Given the description of an element on the screen output the (x, y) to click on. 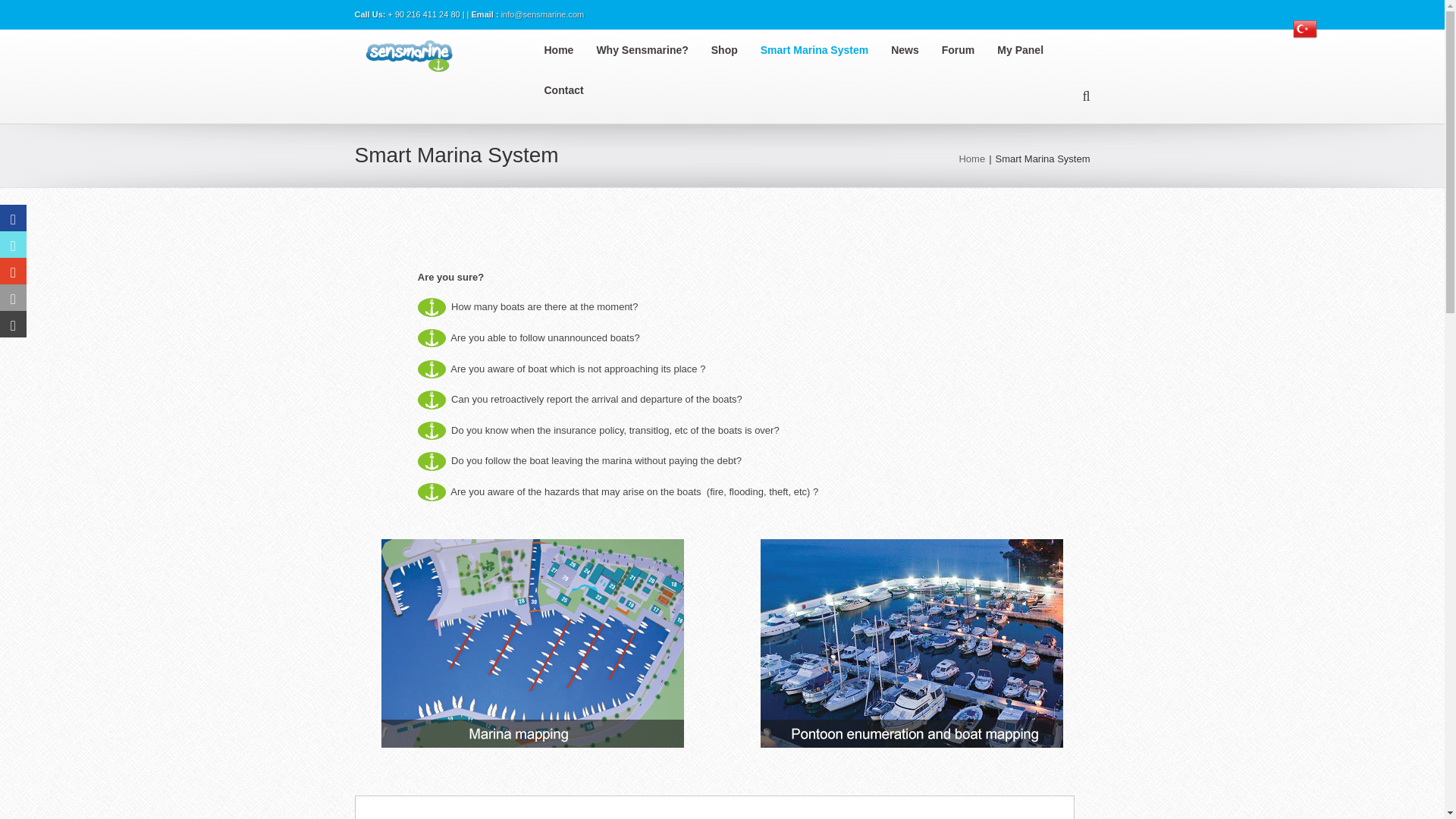
News (916, 50)
Home (971, 158)
Smart Marina System (825, 50)
Shop (735, 50)
Contact (575, 90)
Forum (969, 50)
Why Sensmarine? (652, 50)
Home (570, 50)
My Panel (1031, 50)
